Given the description of an element on the screen output the (x, y) to click on. 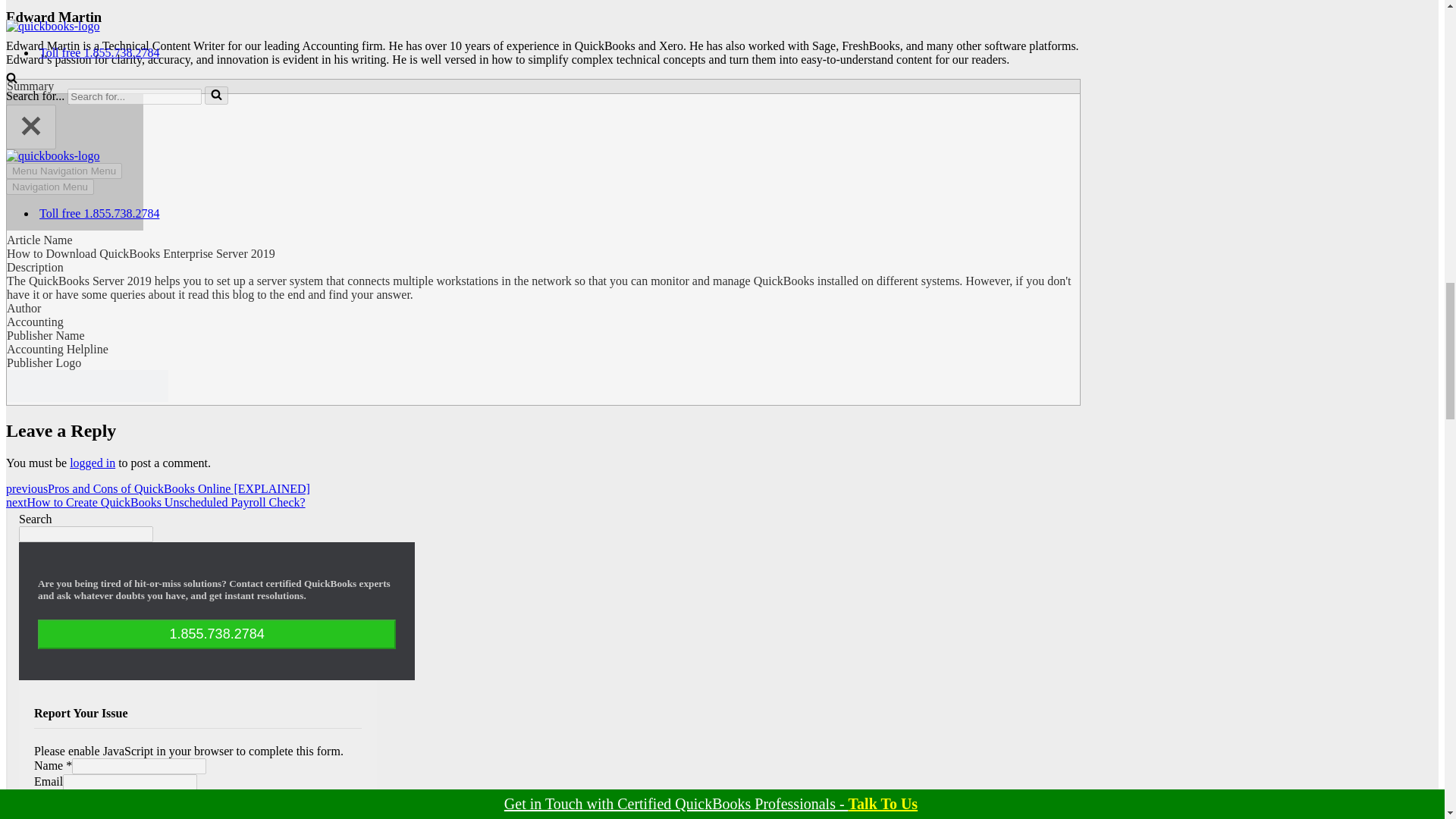
1.855.738.2784 (216, 634)
1.855.738.2784 (216, 633)
logged in (92, 462)
nextHow to Create QuickBooks Unscheduled Payroll Check? (155, 502)
